Given the description of an element on the screen output the (x, y) to click on. 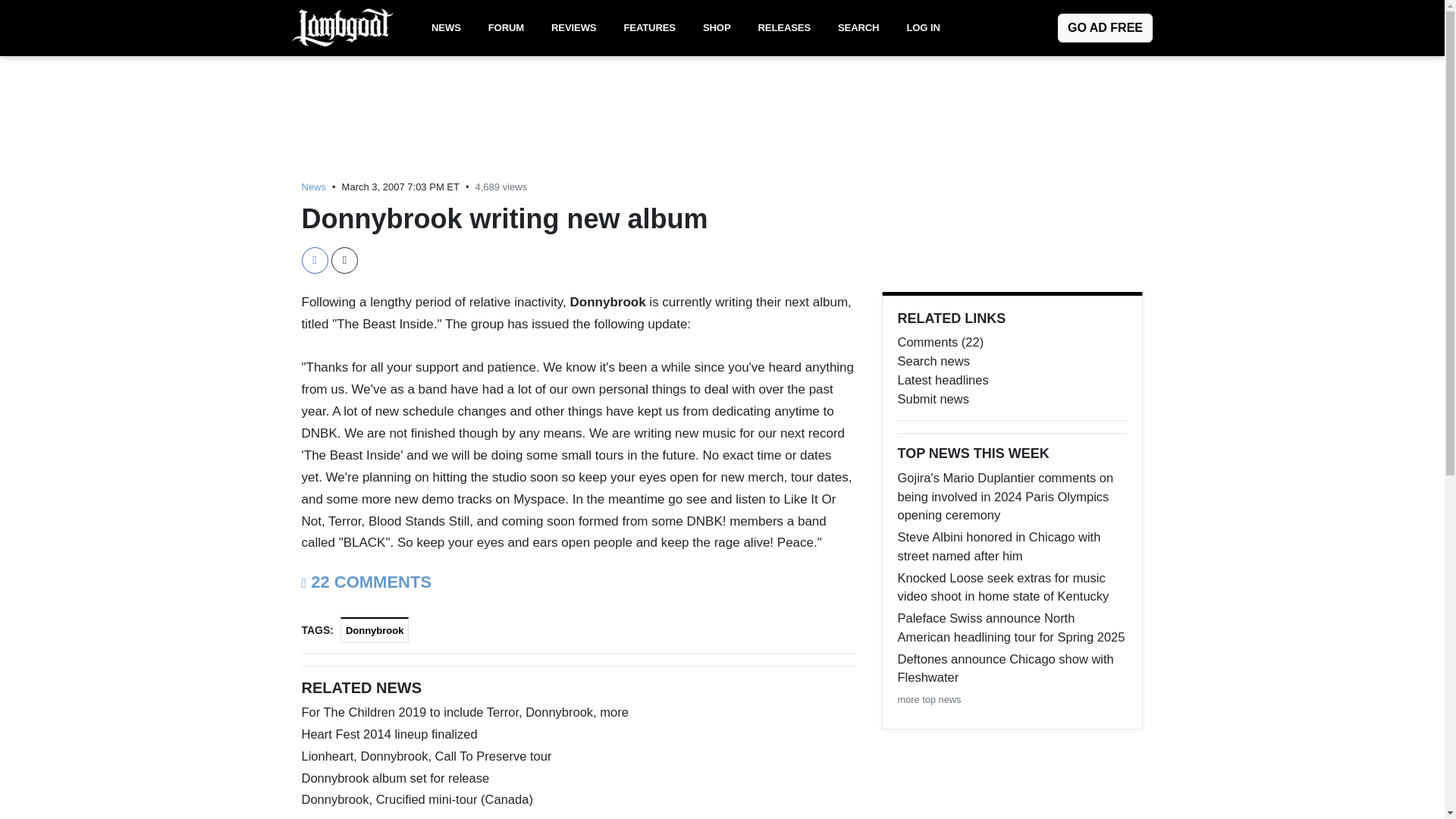
News (313, 186)
FORUM (505, 27)
LOG IN (921, 27)
more top news (929, 699)
REVIEWS (573, 27)
SHOP (716, 27)
Donnybrook album set for release (578, 778)
SEARCH (858, 27)
Heart Fest 2014 lineup finalized (578, 733)
Deftones announce Chicago show with Fleshwater (1012, 668)
Donnybrook (374, 630)
RELEASES (784, 27)
Submit news (1012, 398)
NEWS (446, 27)
